Given the description of an element on the screen output the (x, y) to click on. 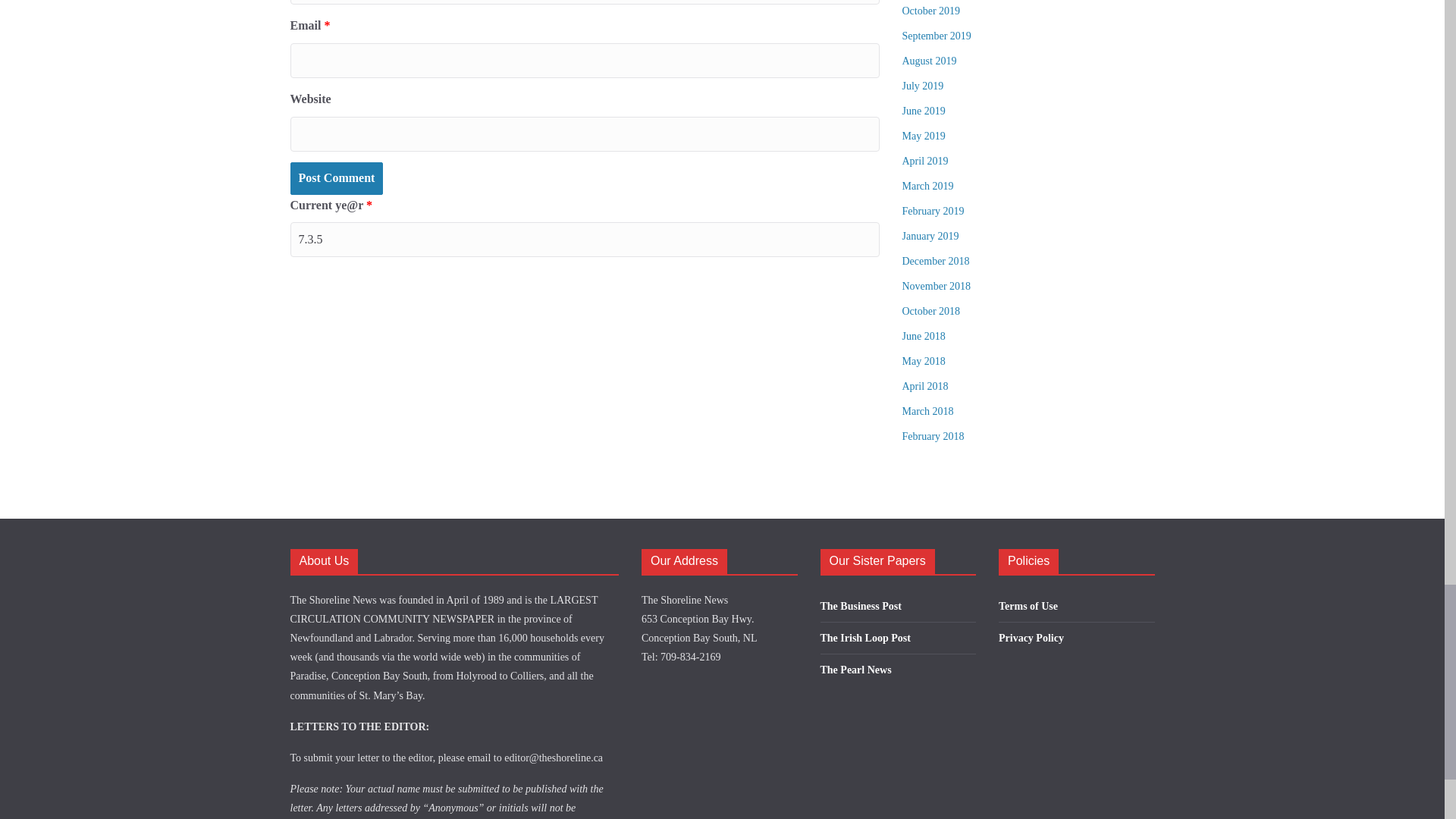
Post Comment (335, 178)
7.3.5 (584, 239)
Post Comment (335, 178)
